Given the description of an element on the screen output the (x, y) to click on. 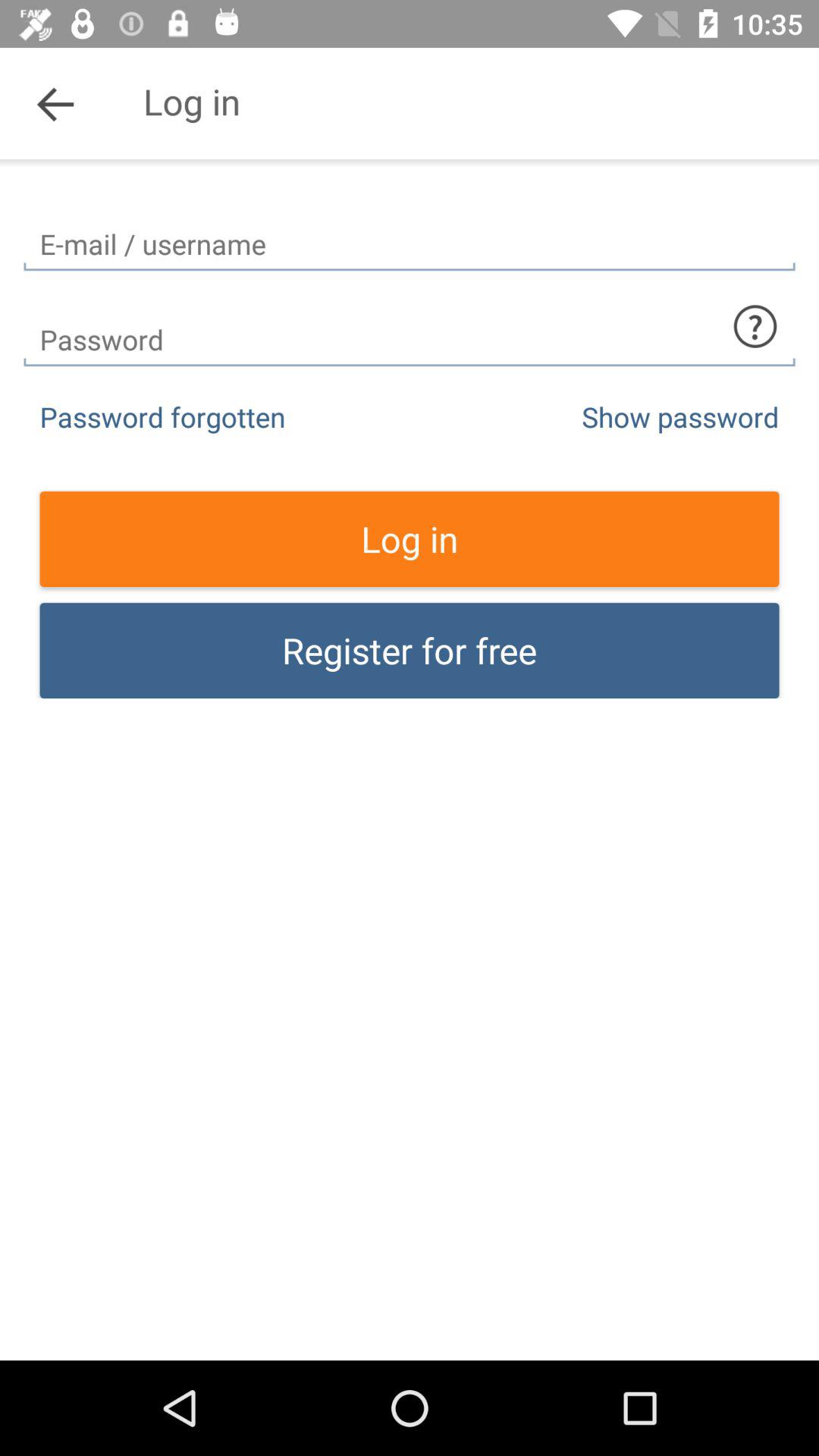
what to type in section (755, 326)
